Given the description of an element on the screen output the (x, y) to click on. 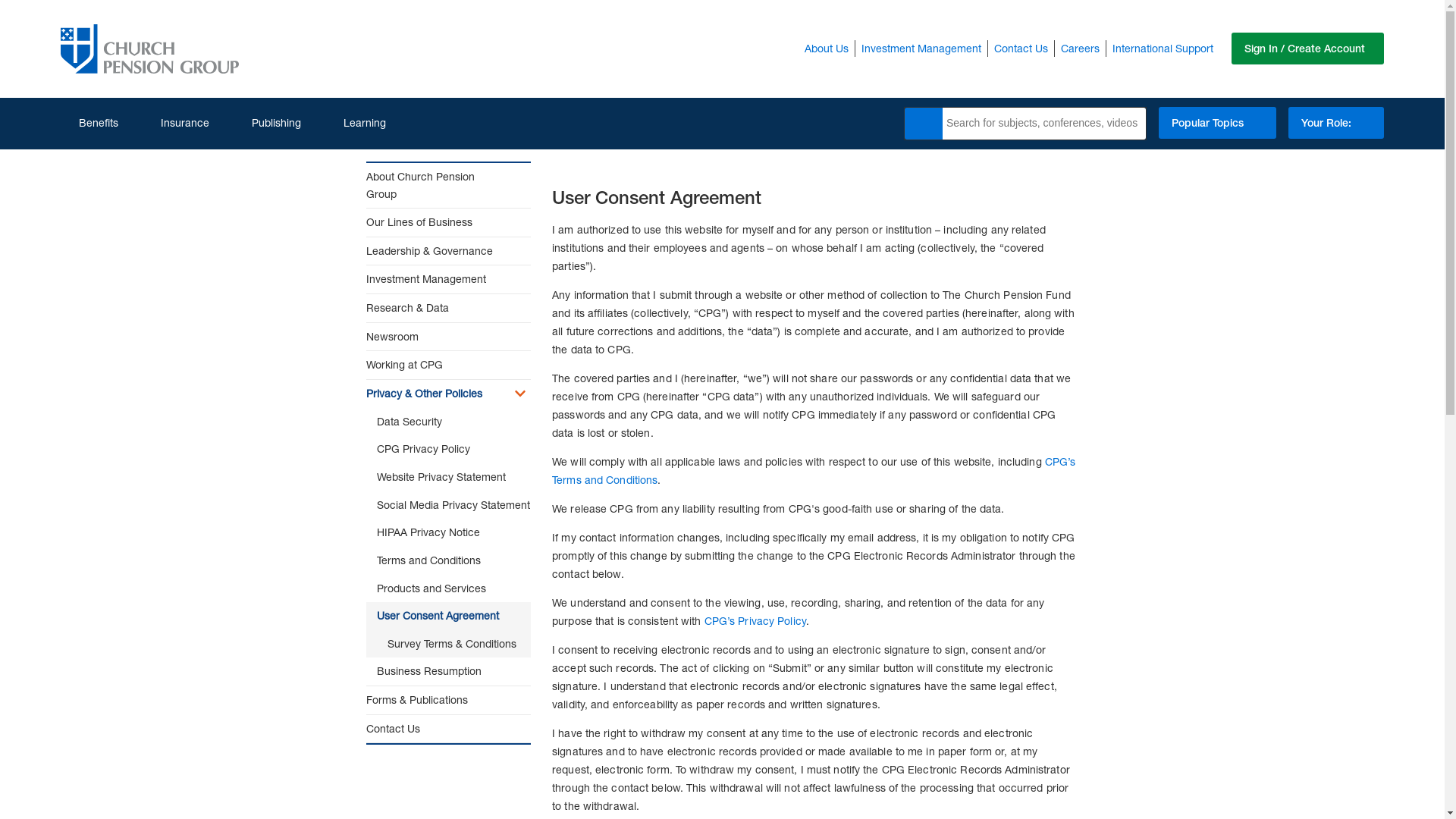
Insurance (175, 123)
Benefits (89, 123)
Careers (1079, 48)
Careers (1079, 48)
Learning (354, 123)
Investment Management (921, 48)
Publishing (266, 123)
Contact Us (1021, 48)
Header Logo (149, 48)
Learning (354, 123)
